Given the description of an element on the screen output the (x, y) to click on. 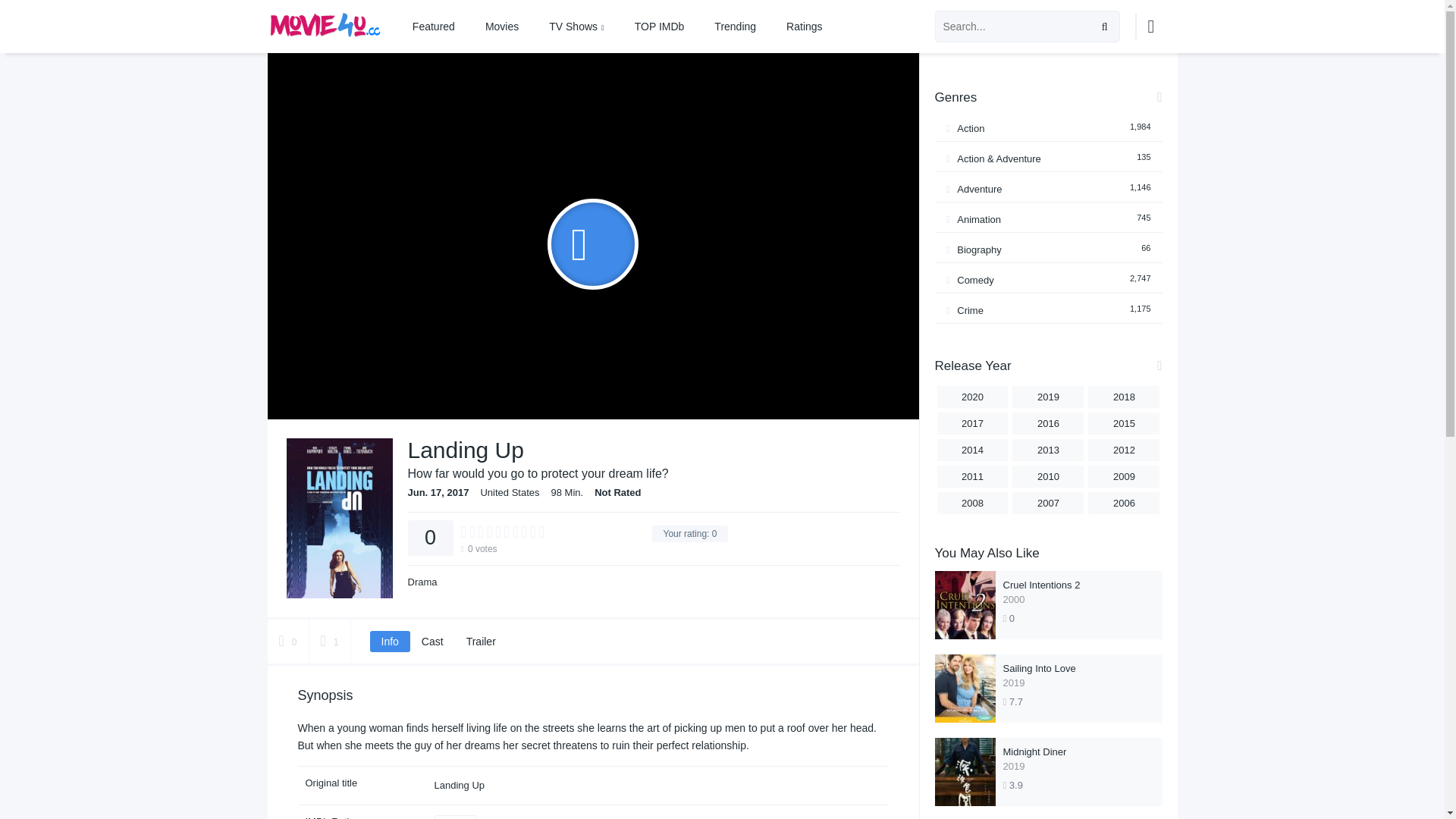
Drama (426, 582)
TV Shows (576, 26)
Info (389, 640)
Trending (734, 26)
TOP IMDb (660, 26)
1 (329, 640)
Cast (432, 640)
Ratings (804, 26)
Featured (433, 26)
Movies (502, 26)
0 (287, 640)
Trailer (480, 640)
